Given the description of an element on the screen output the (x, y) to click on. 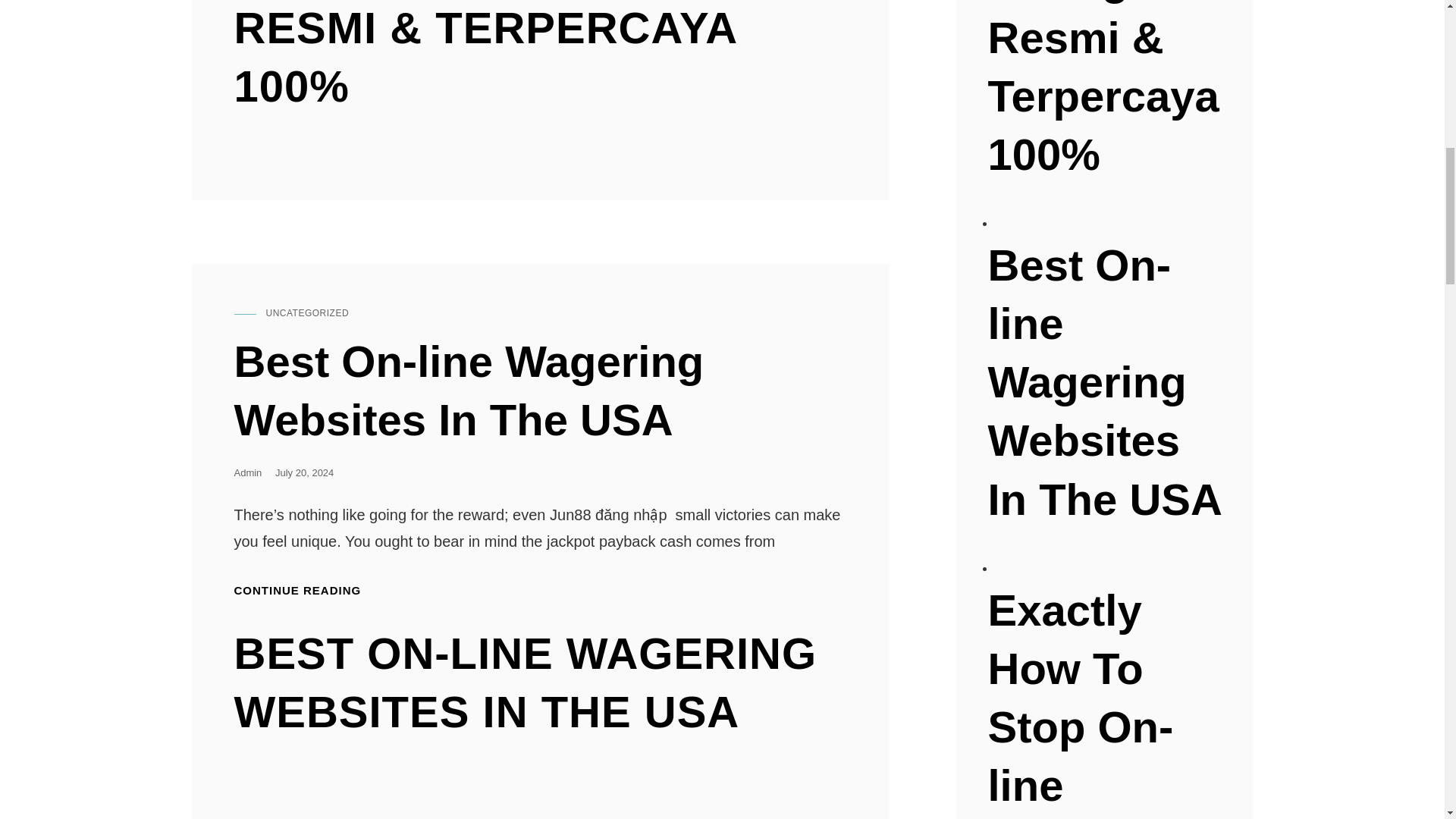
Admin (247, 472)
CONTINUE READING (296, 589)
UNCATEGORIZED (307, 313)
BEST ON-LINE WAGERING WEBSITES IN THE USA (538, 690)
July 20, 2024 (304, 472)
Best On-line Wagering Websites In The USA (538, 390)
